Given the description of an element on the screen output the (x, y) to click on. 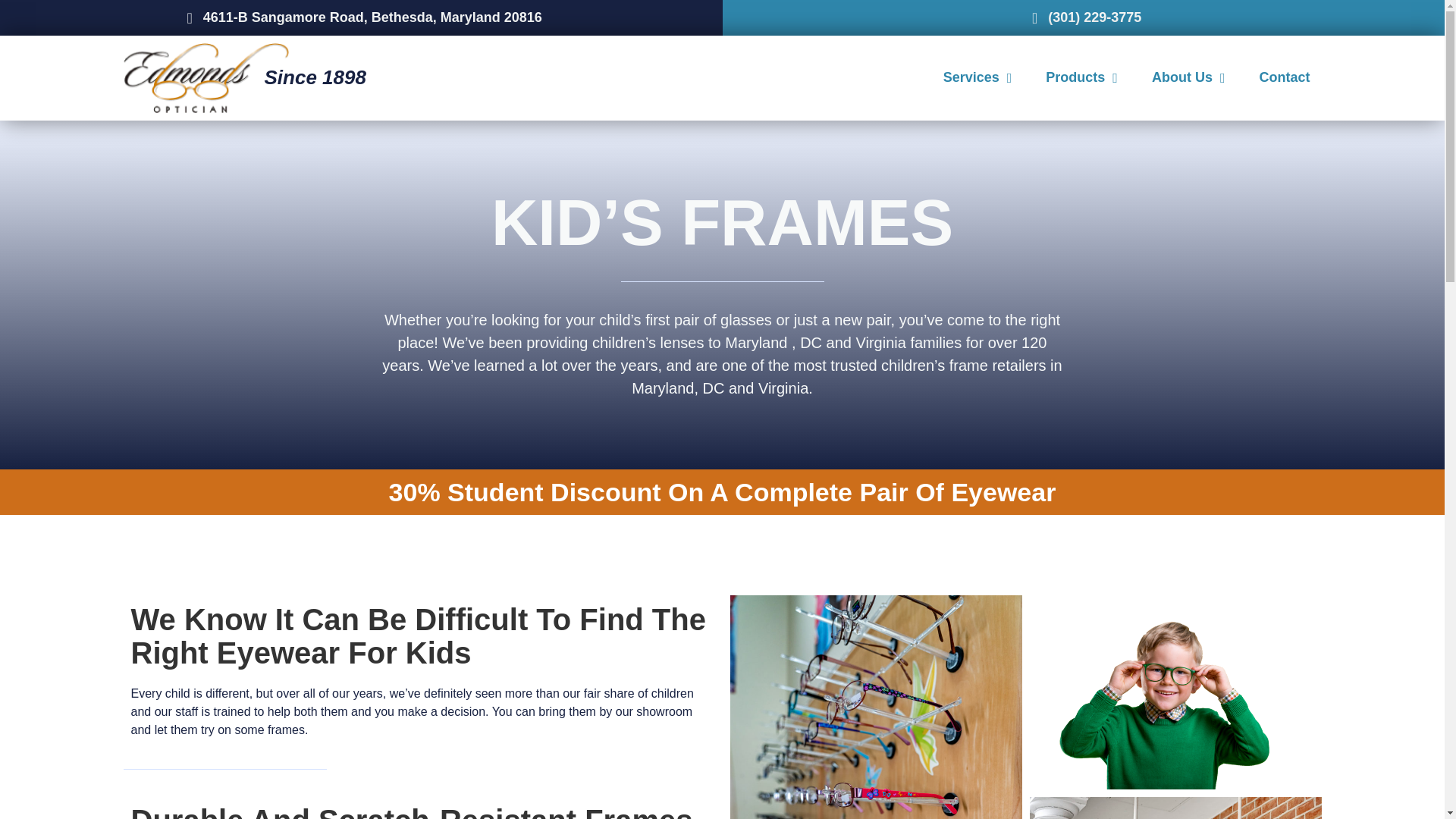
Contact (1284, 77)
4611-B Sangamore Road, Bethesda, Maryland 20816 (360, 17)
About Us (1188, 77)
Services (977, 77)
Products (1081, 77)
